Given the description of an element on the screen output the (x, y) to click on. 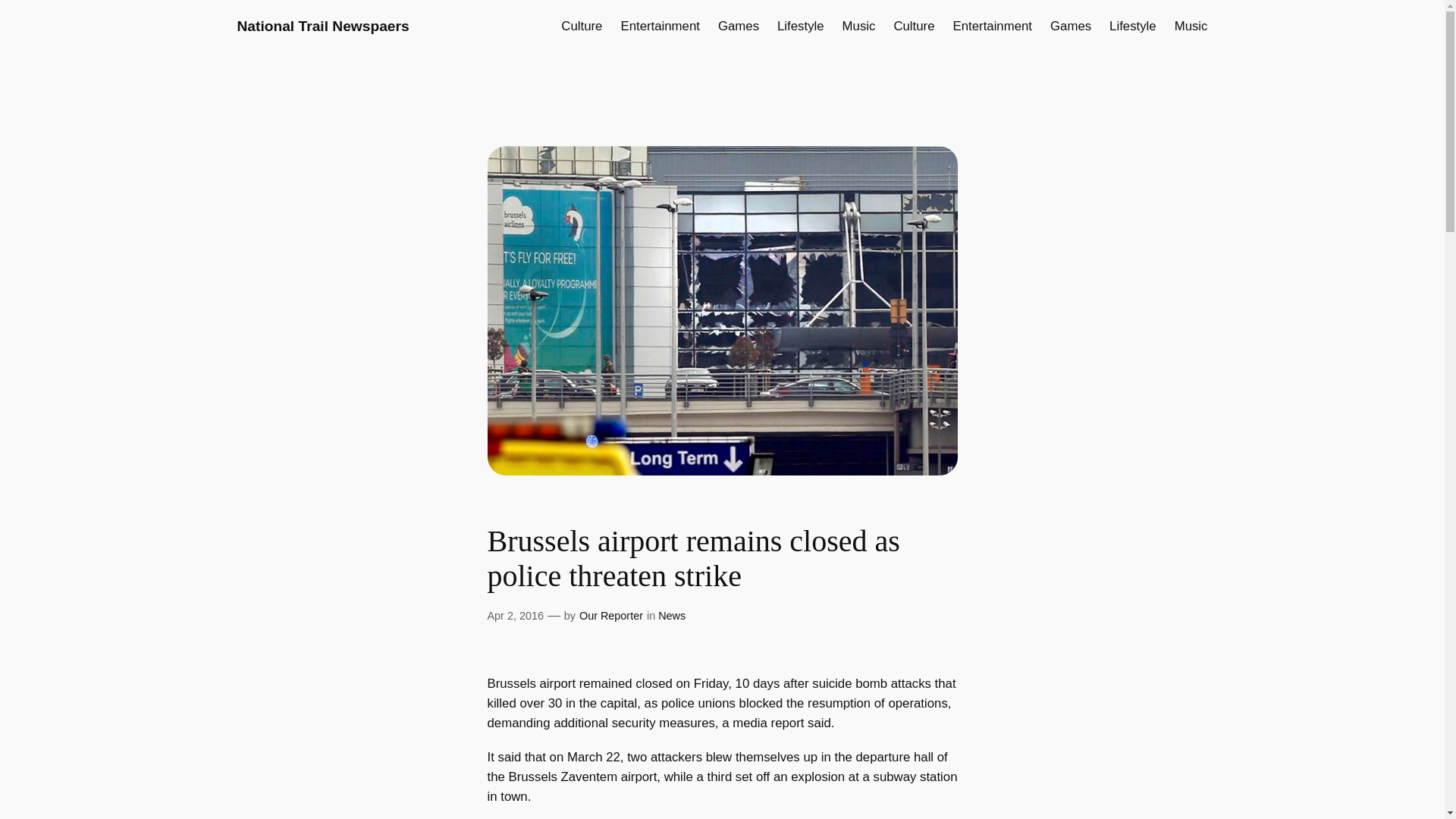
News (671, 615)
Music (859, 26)
Lifestyle (1132, 26)
Lifestyle (800, 26)
Games (737, 26)
Music (1191, 26)
Apr 2, 2016 (514, 615)
Culture (581, 26)
Our Reporter (611, 615)
National Trail Newspaers (322, 26)
Entertainment (659, 26)
Culture (913, 26)
Entertainment (992, 26)
Games (1069, 26)
